Given the description of an element on the screen output the (x, y) to click on. 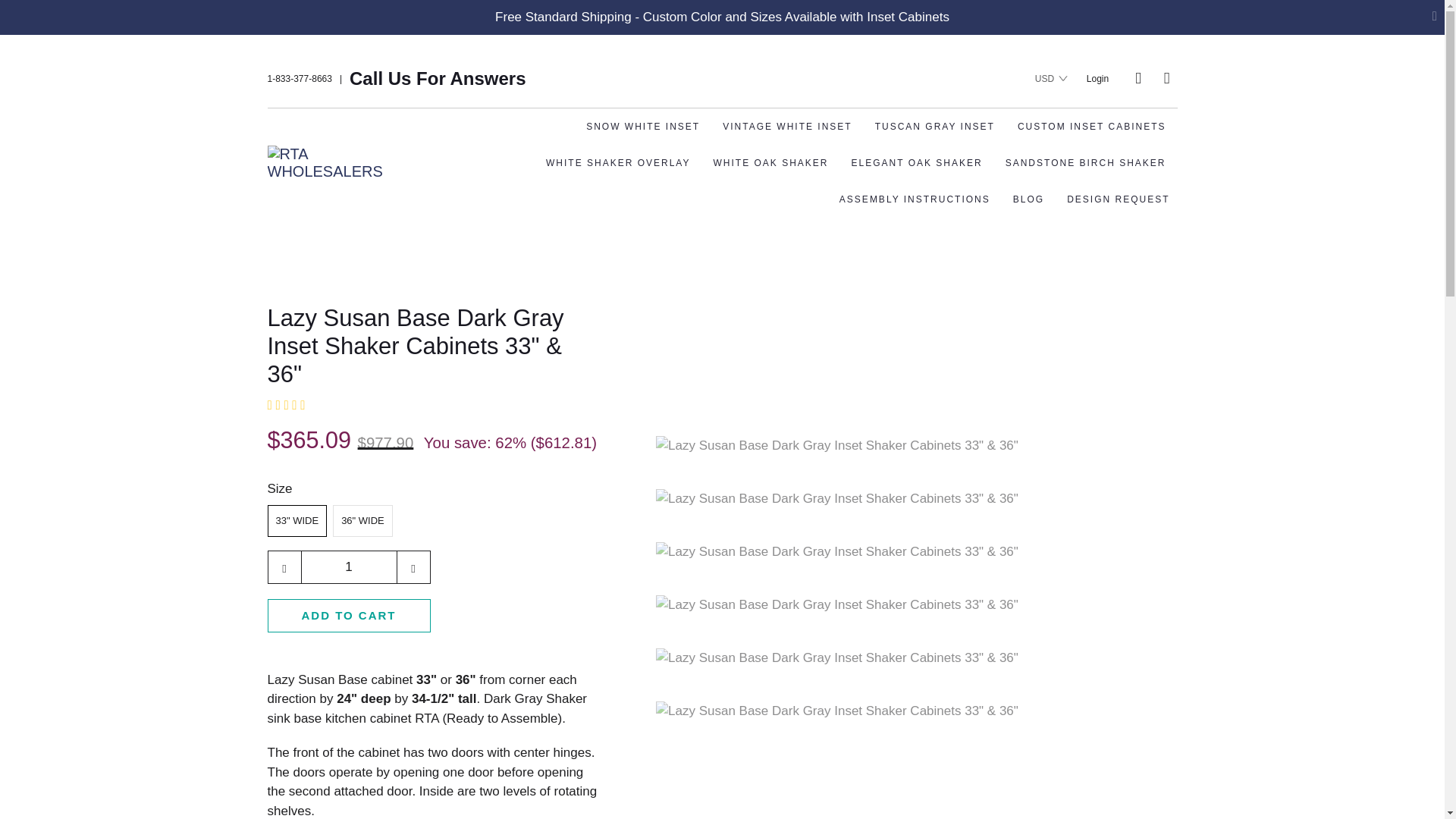
1-833-377-8663 (298, 78)
WHITE SHAKER OVERLAY (617, 162)
VINTAGE WHITE INSET (786, 125)
ELEGANT OAK SHAKER (917, 162)
CUSTOM INSET CABINETS (1091, 125)
1 (347, 566)
TUSCAN GRAY INSET (935, 125)
ASSEMBLY INSTRUCTIONS (914, 198)
My Account  (1097, 77)
